Given the description of an element on the screen output the (x, y) to click on. 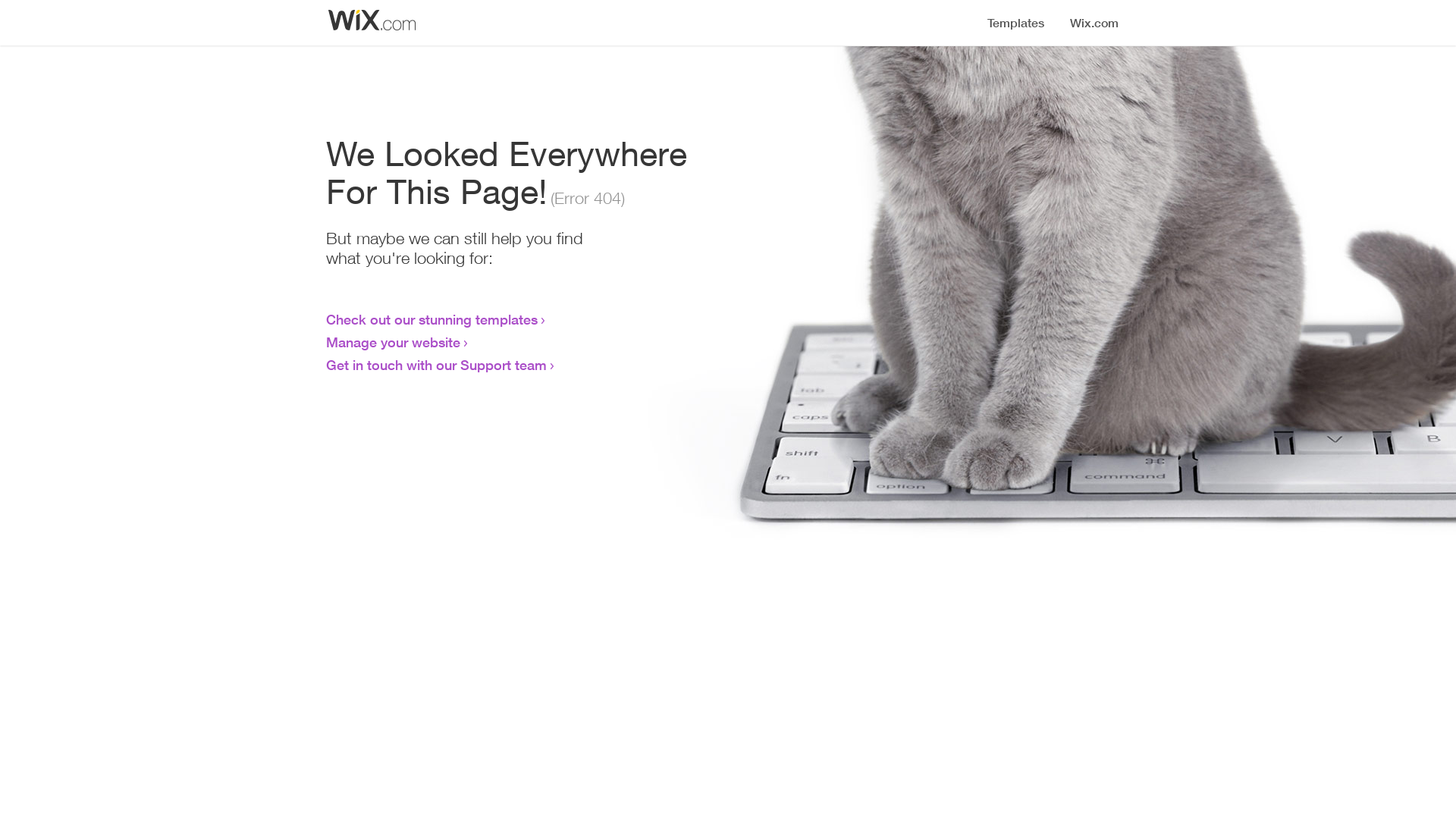
Get in touch with our Support team Element type: text (436, 364)
Manage your website Element type: text (393, 341)
Check out our stunning templates Element type: text (431, 318)
